Given the description of an element on the screen output the (x, y) to click on. 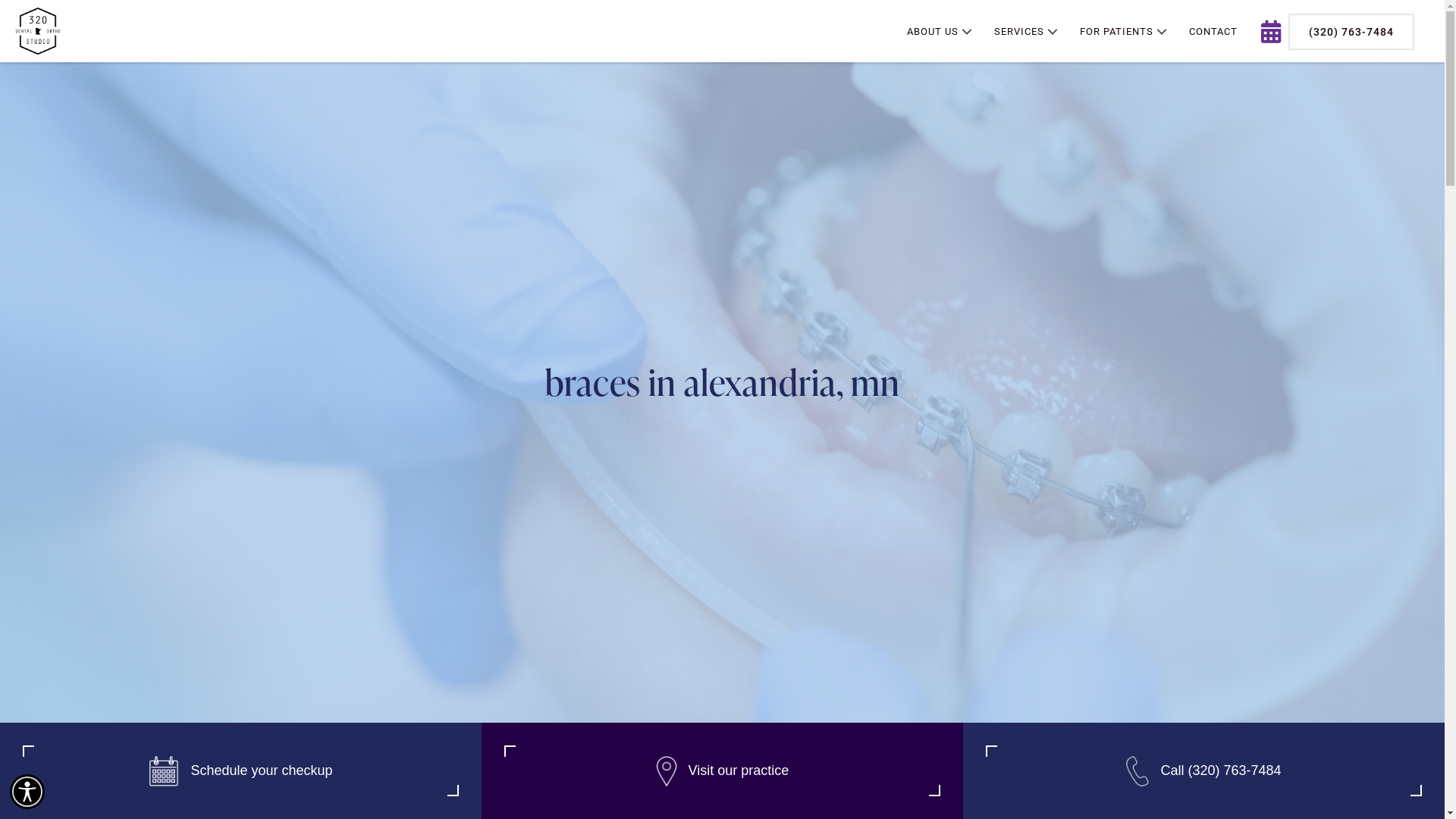
Schedule your checkup Element type: text (240, 770)
Visit our practice Element type: text (722, 770)
Call (320) 763-7484 Element type: text (1203, 770)
(320) 763-7484 Element type: text (1351, 31)
CONTACT Element type: text (1212, 31)
